Given the description of an element on the screen output the (x, y) to click on. 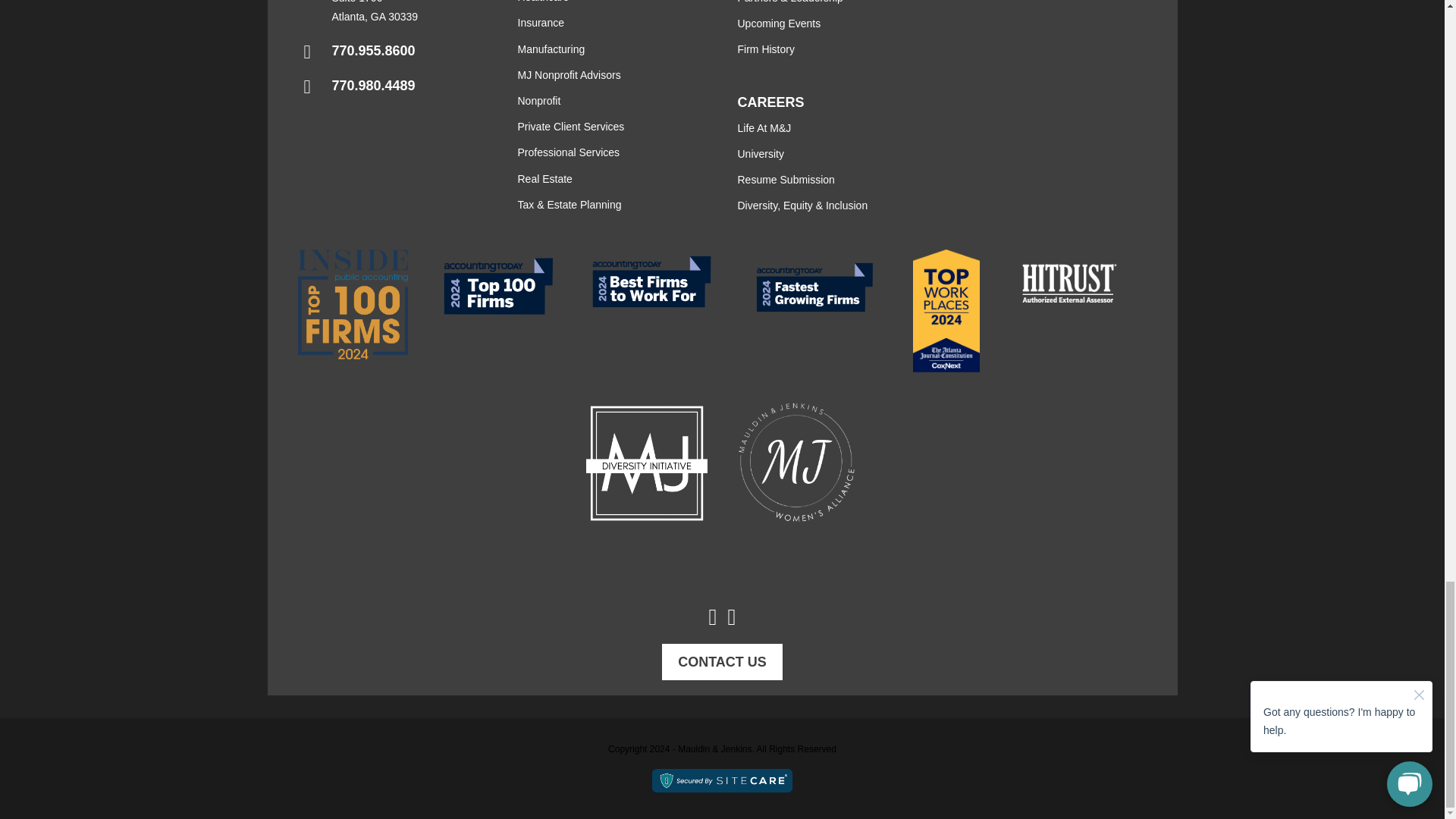
Click Here (722, 661)
AT-Best Firms to Work For-Logo-2024 (652, 281)
IPA - Award Logo - Top 100 Firms (352, 304)
AT-Fastest Growing Firms-Logo-2024 (813, 287)
AT-Top 100 Firms-Logo-2024 (497, 285)
Secured by SiteCare (722, 781)
